Given the description of an element on the screen output the (x, y) to click on. 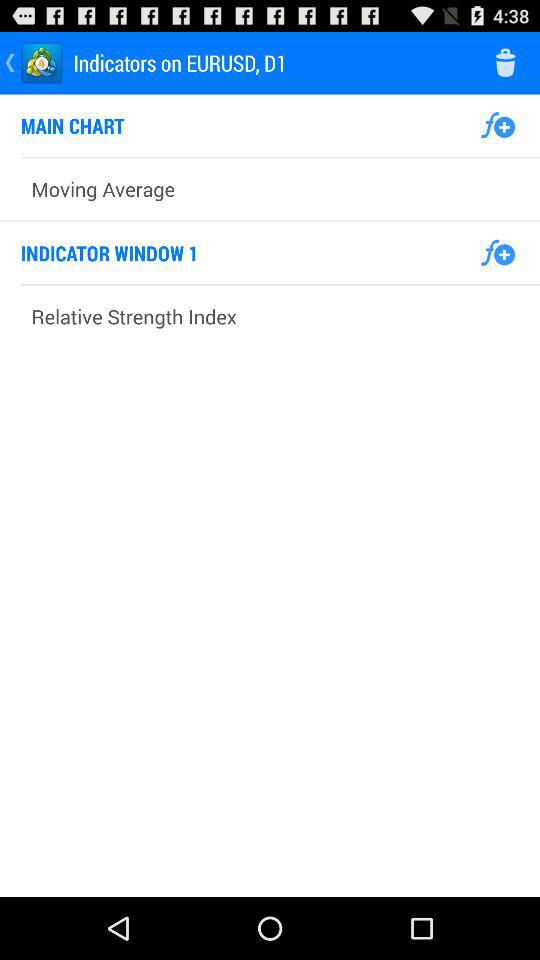
increase f-stop (498, 125)
